Given the description of an element on the screen output the (x, y) to click on. 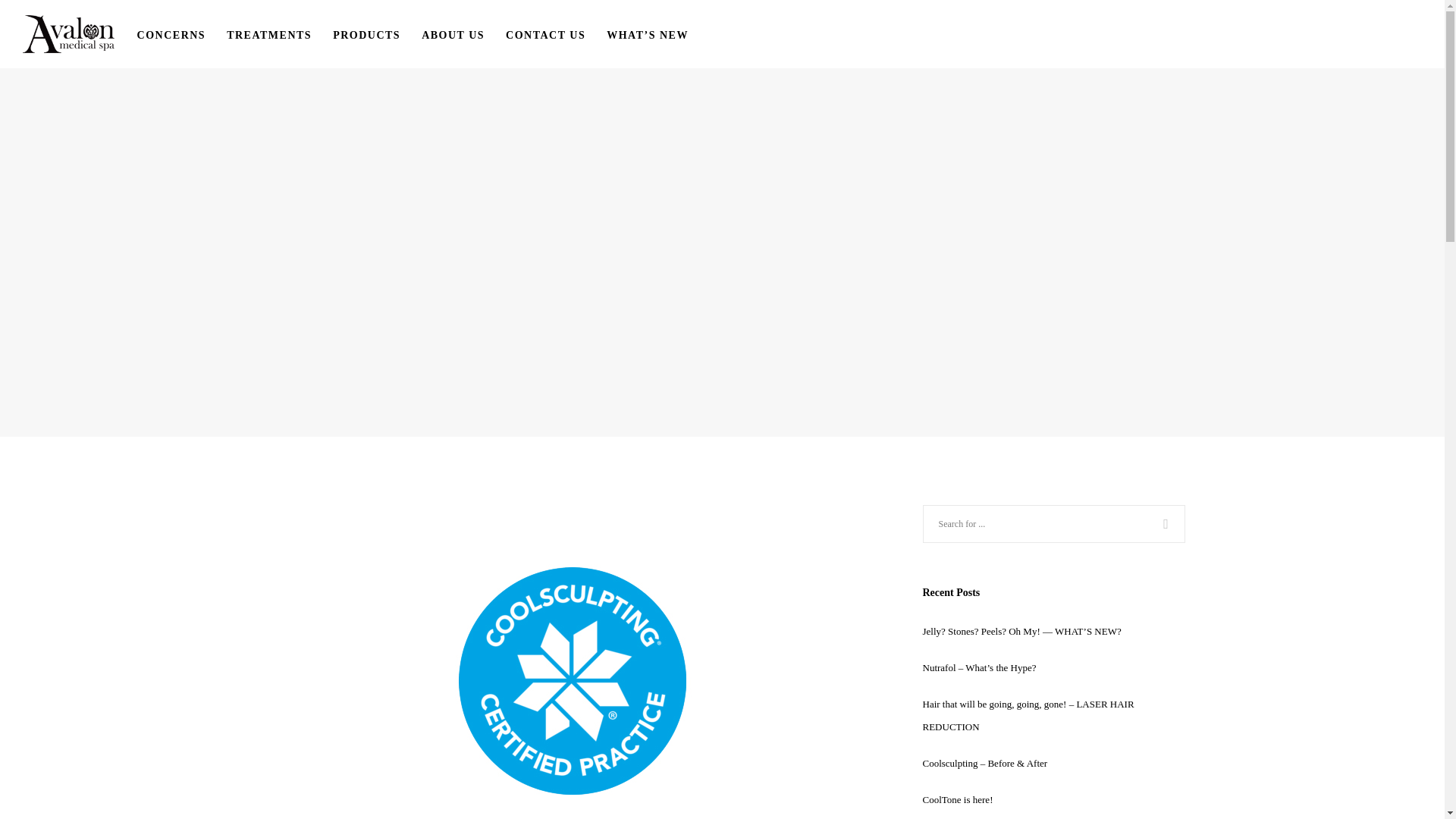
TREATMENTS (280, 33)
CONTACT US (556, 33)
CoolTone is here! (956, 799)
CONCERNS (181, 33)
PRODUCTS (377, 33)
ABOUT US (463, 33)
